Given the description of an element on the screen output the (x, y) to click on. 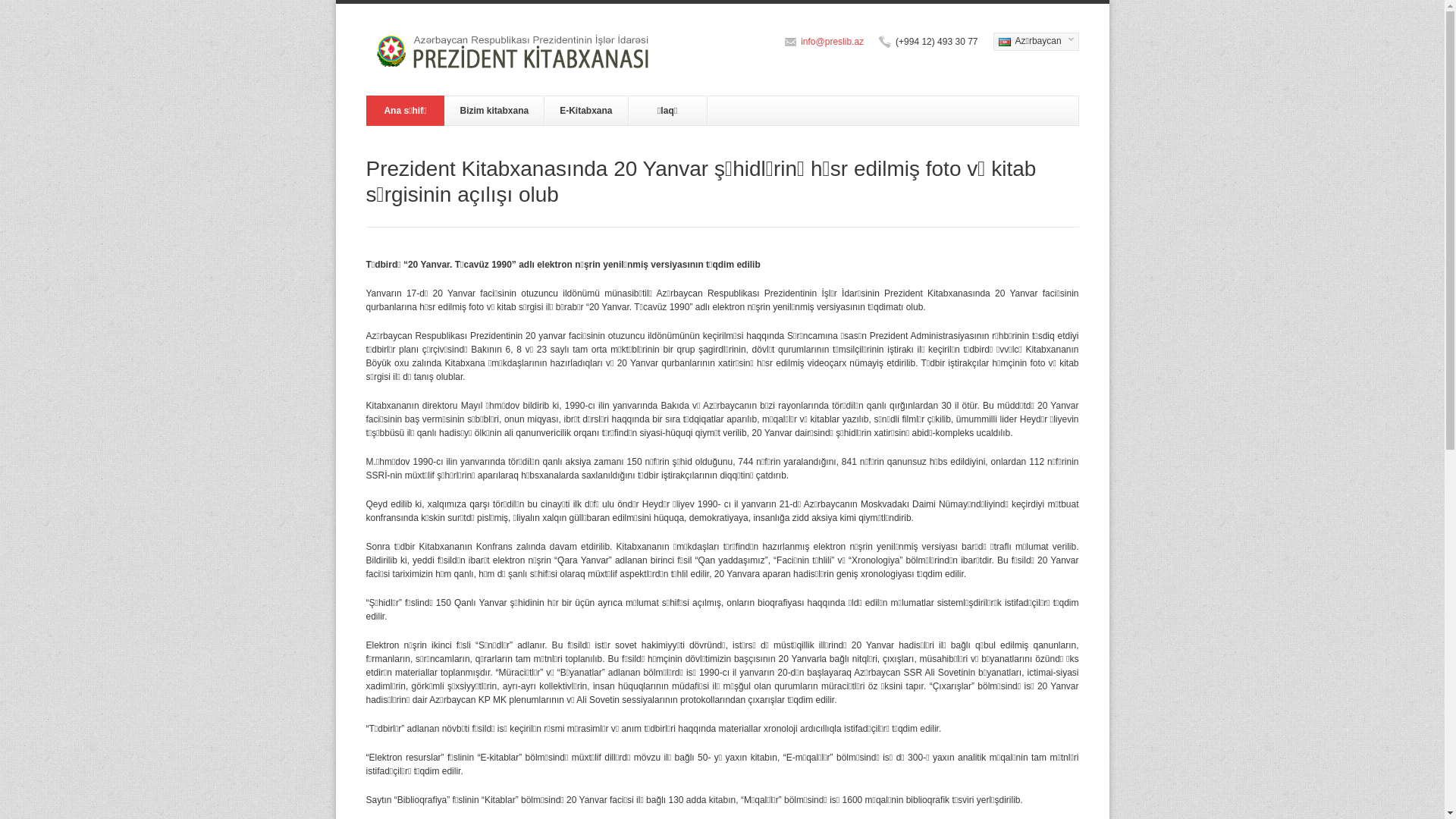
E-Kitabxana Element type: text (585, 110)
info@preslib.az Element type: text (831, 41)
Bizim kitabxana Element type: text (494, 110)
